Given the description of an element on the screen output the (x, y) to click on. 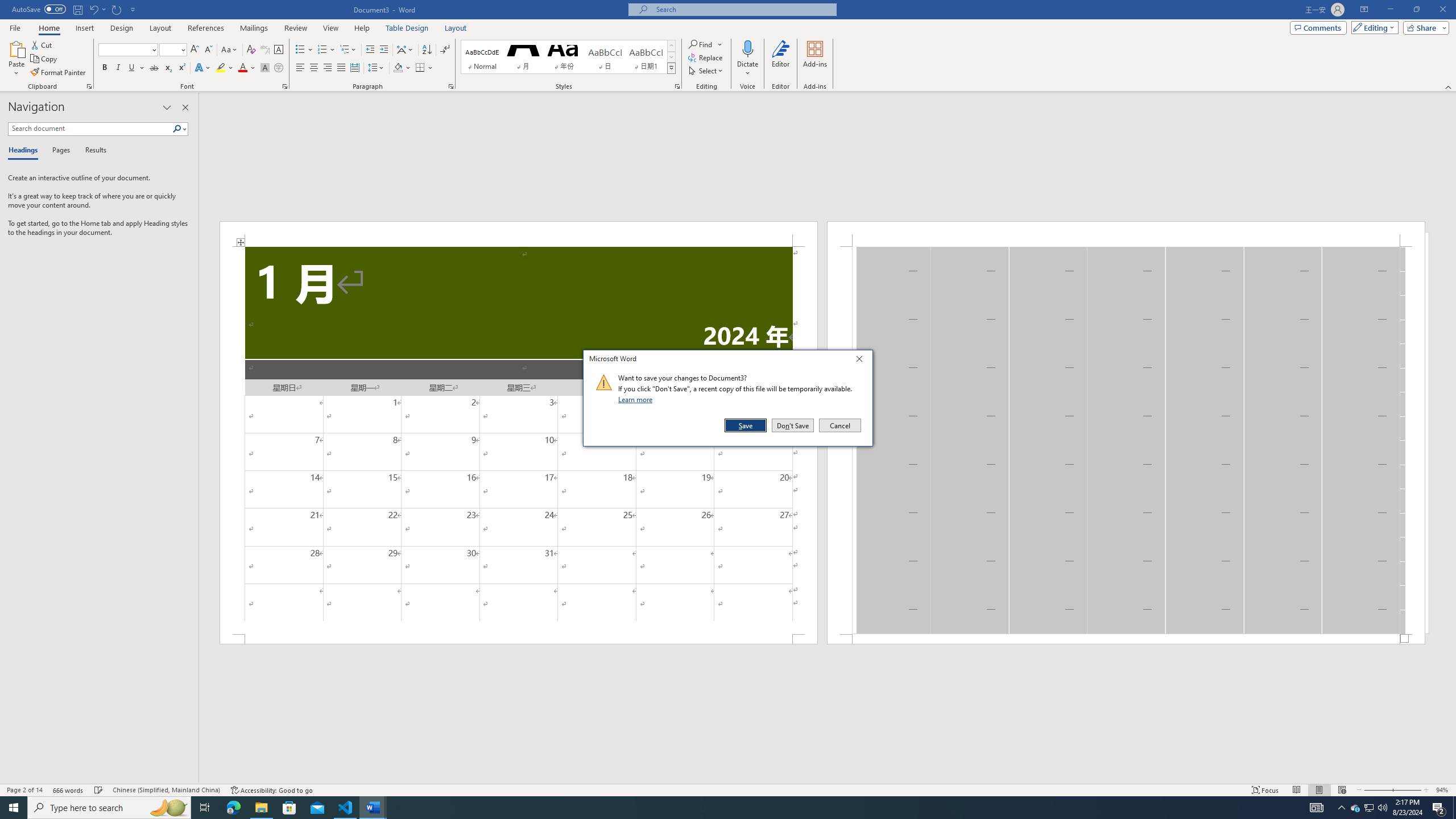
Asian Layout (405, 49)
Justify (340, 67)
Repeat Distribute Para (117, 9)
Shading (402, 67)
Cancel (839, 425)
Don't Save (792, 425)
Character Shading (264, 67)
Italic (118, 67)
Undo Distribute Para (96, 9)
